Given the description of an element on the screen output the (x, y) to click on. 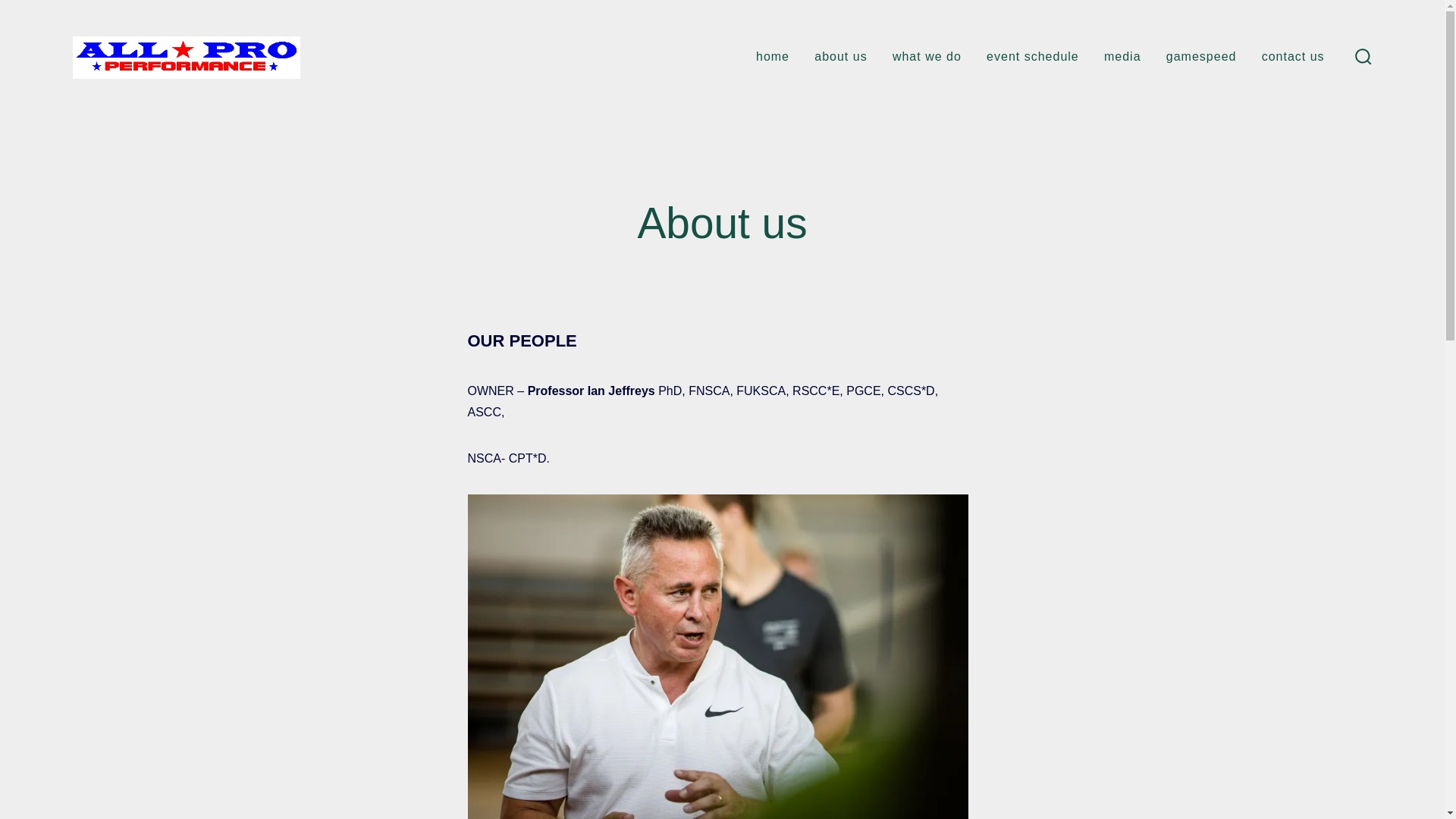
media (1122, 56)
what we do (926, 56)
gamespeed (1201, 56)
search toggle (1362, 57)
event schedule (1032, 56)
contact us (1293, 56)
home (772, 56)
about us (839, 56)
